Given the description of an element on the screen output the (x, y) to click on. 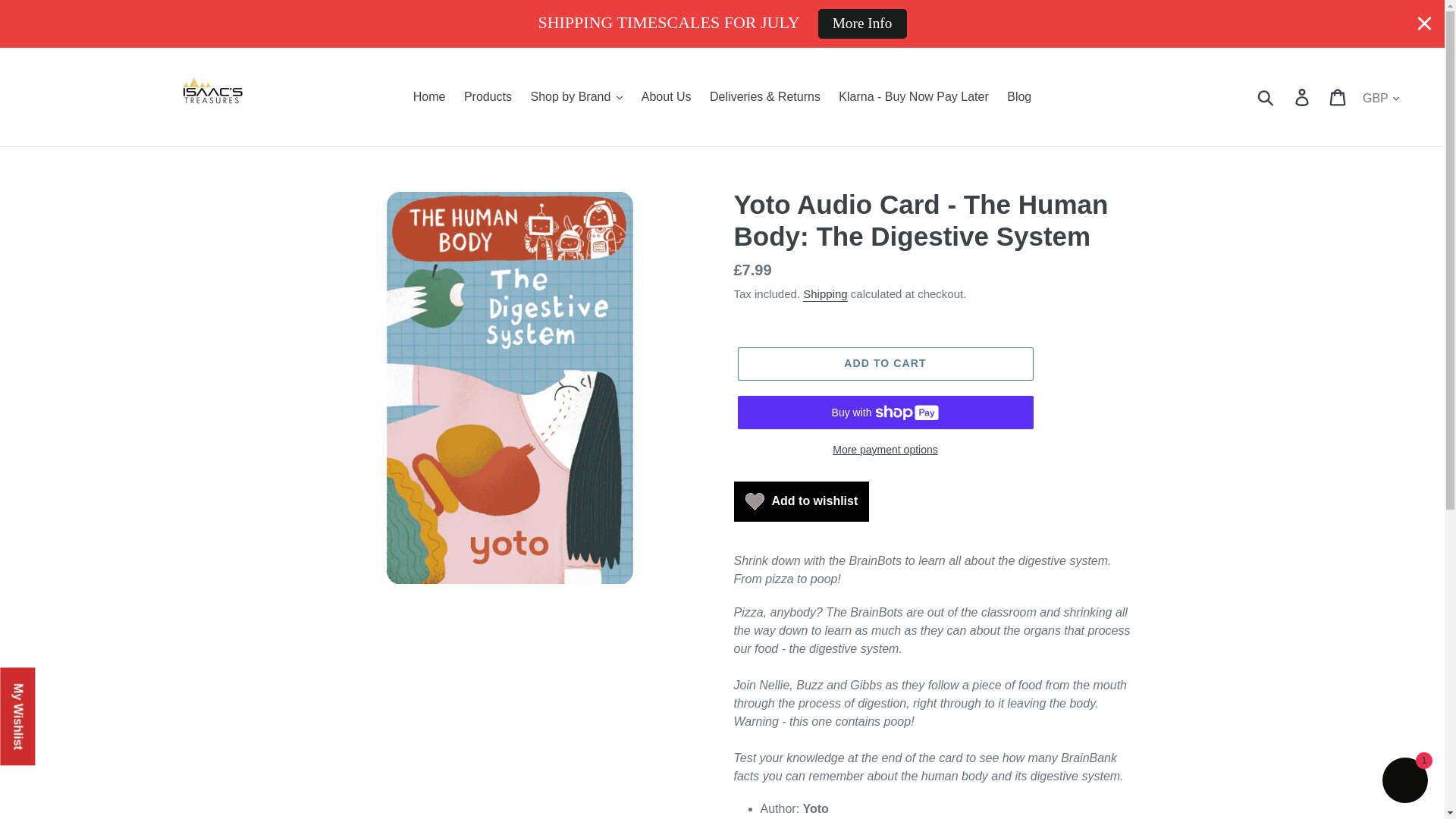
Products (488, 96)
More Info (860, 23)
Shopify online store chat (1404, 781)
Home (429, 96)
